Given the description of an element on the screen output the (x, y) to click on. 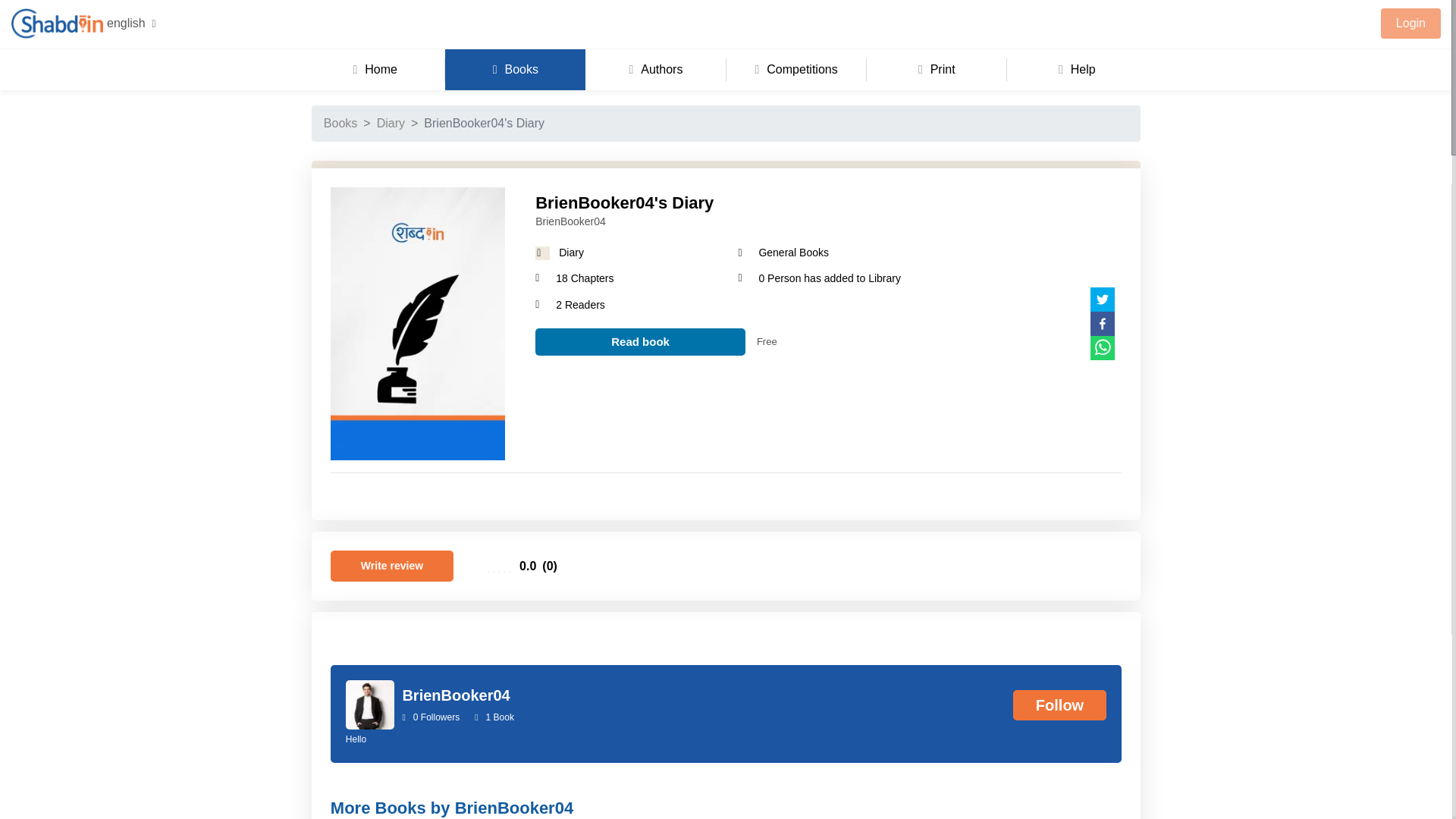
Books (515, 69)
BrienBooker04 (824, 221)
Diary (390, 123)
Write review (391, 565)
Books (339, 123)
BrienBooker04 (655, 694)
Help (1077, 69)
Print (936, 69)
Diary (571, 252)
Read book (640, 342)
General Books (793, 252)
english   (129, 23)
Competitions (796, 69)
Follow (1059, 705)
Authors (655, 69)
